Given the description of an element on the screen output the (x, y) to click on. 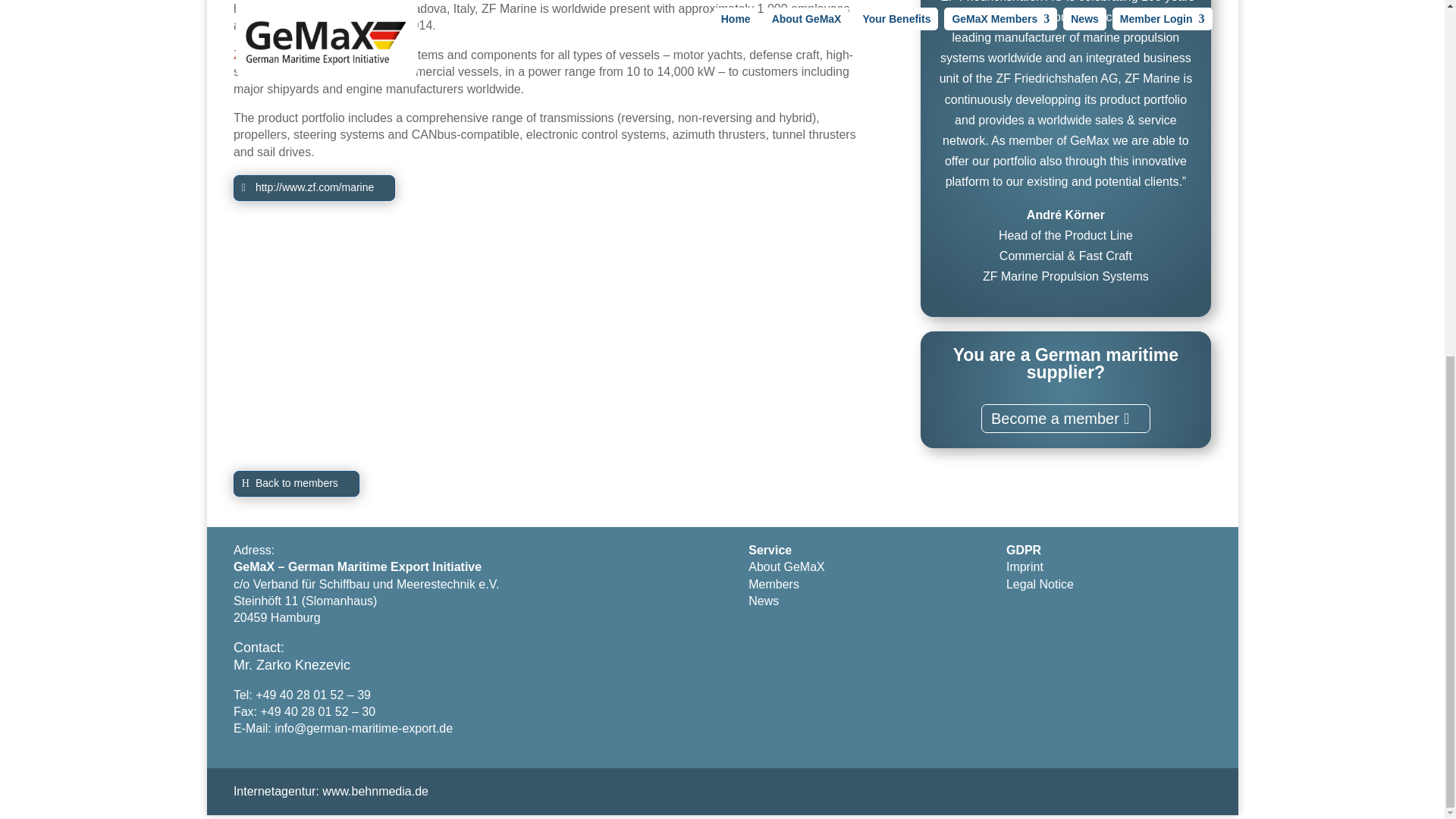
Legal Notice (1040, 584)
Internetagentur: www.behnmedia.de (330, 790)
Back to members (295, 483)
Imprint (1024, 566)
Become a member (1065, 418)
ZF Marine (260, 54)
